Given the description of an element on the screen output the (x, y) to click on. 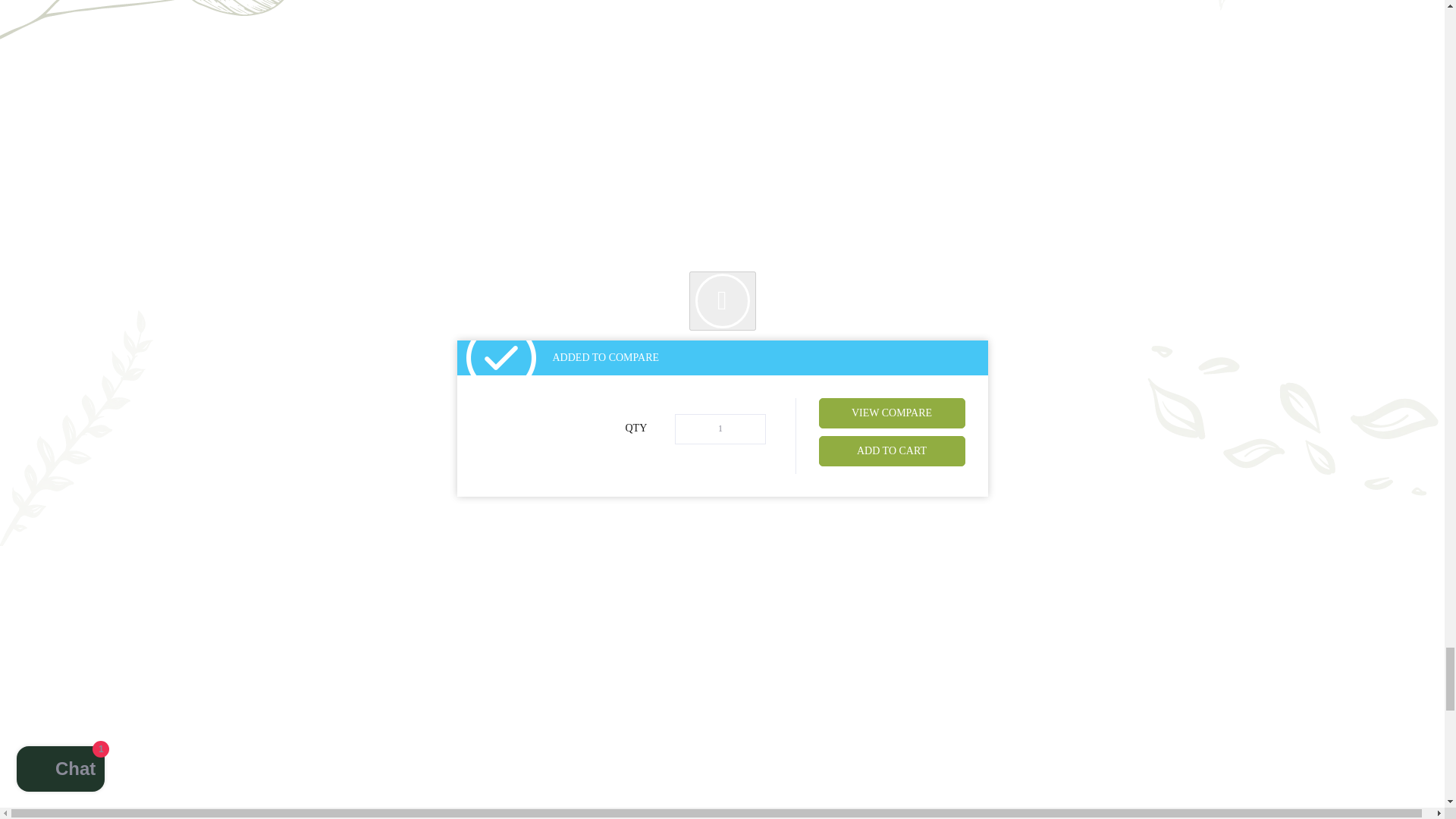
1 (720, 429)
